Given the description of an element on the screen output the (x, y) to click on. 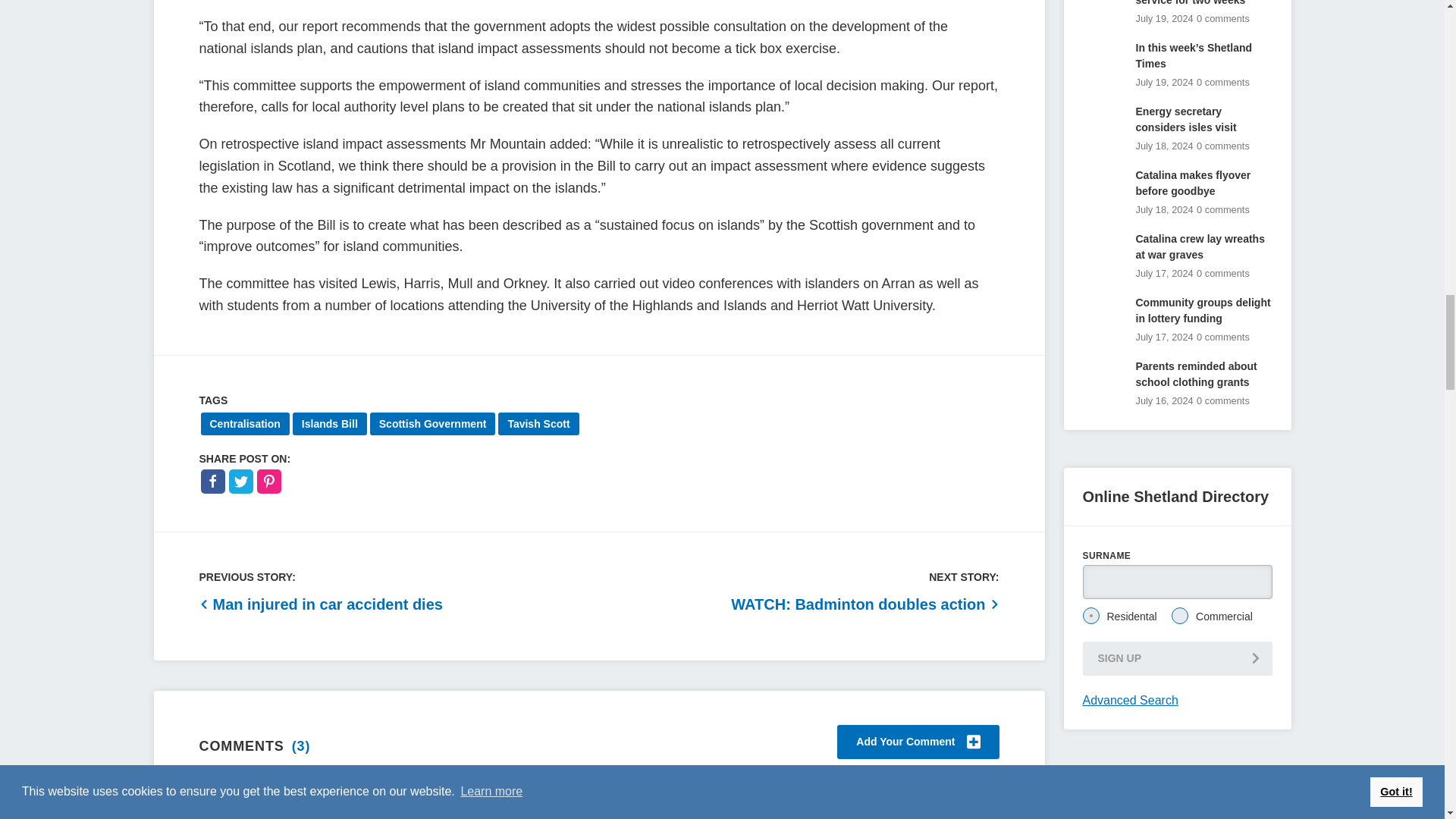
commercial (1180, 615)
residential (1091, 615)
